Given the description of an element on the screen output the (x, y) to click on. 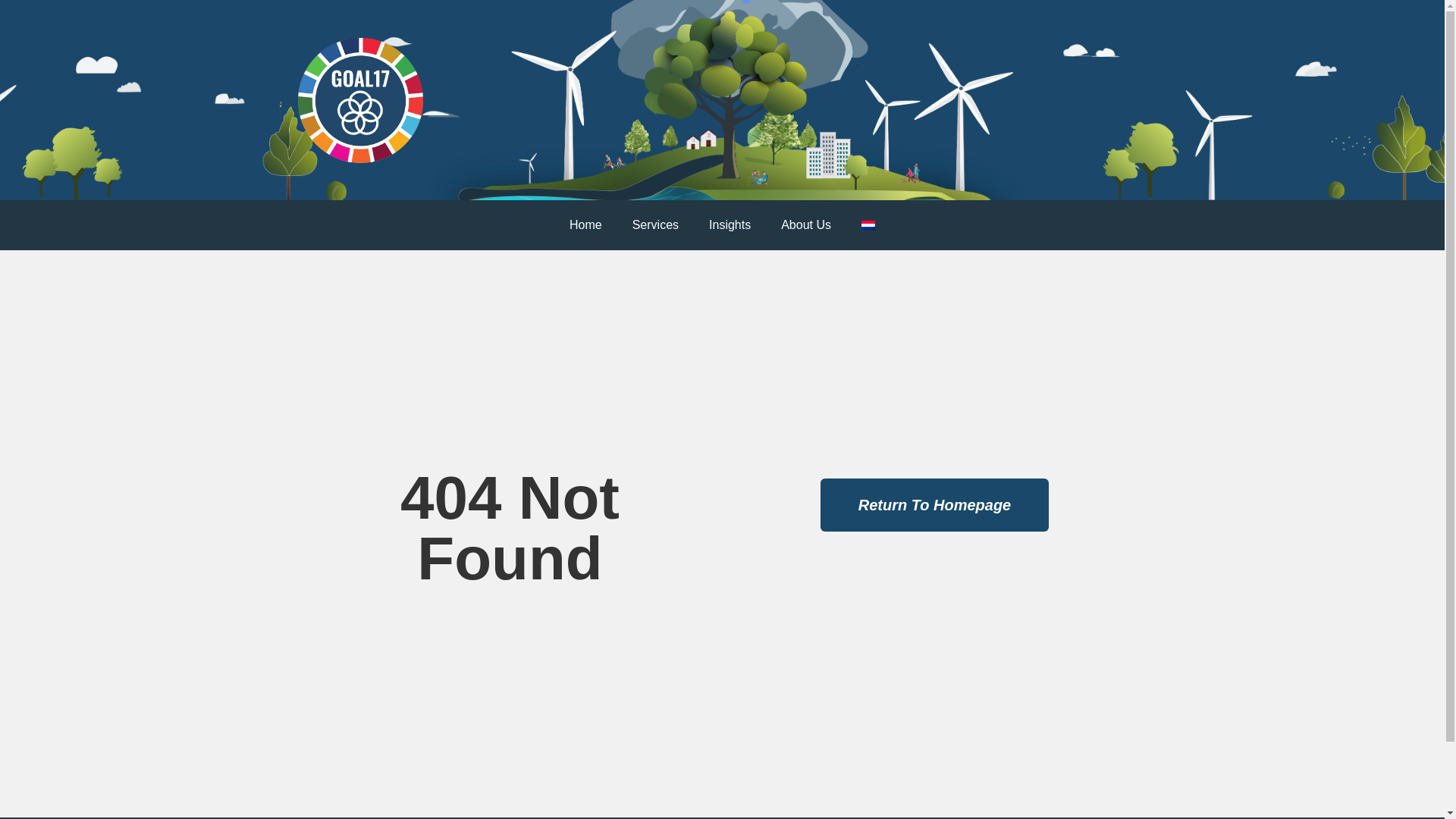
About Us (805, 225)
Services (655, 225)
Home (585, 225)
Insights (729, 225)
Return To Homepage (935, 504)
